Given the description of an element on the screen output the (x, y) to click on. 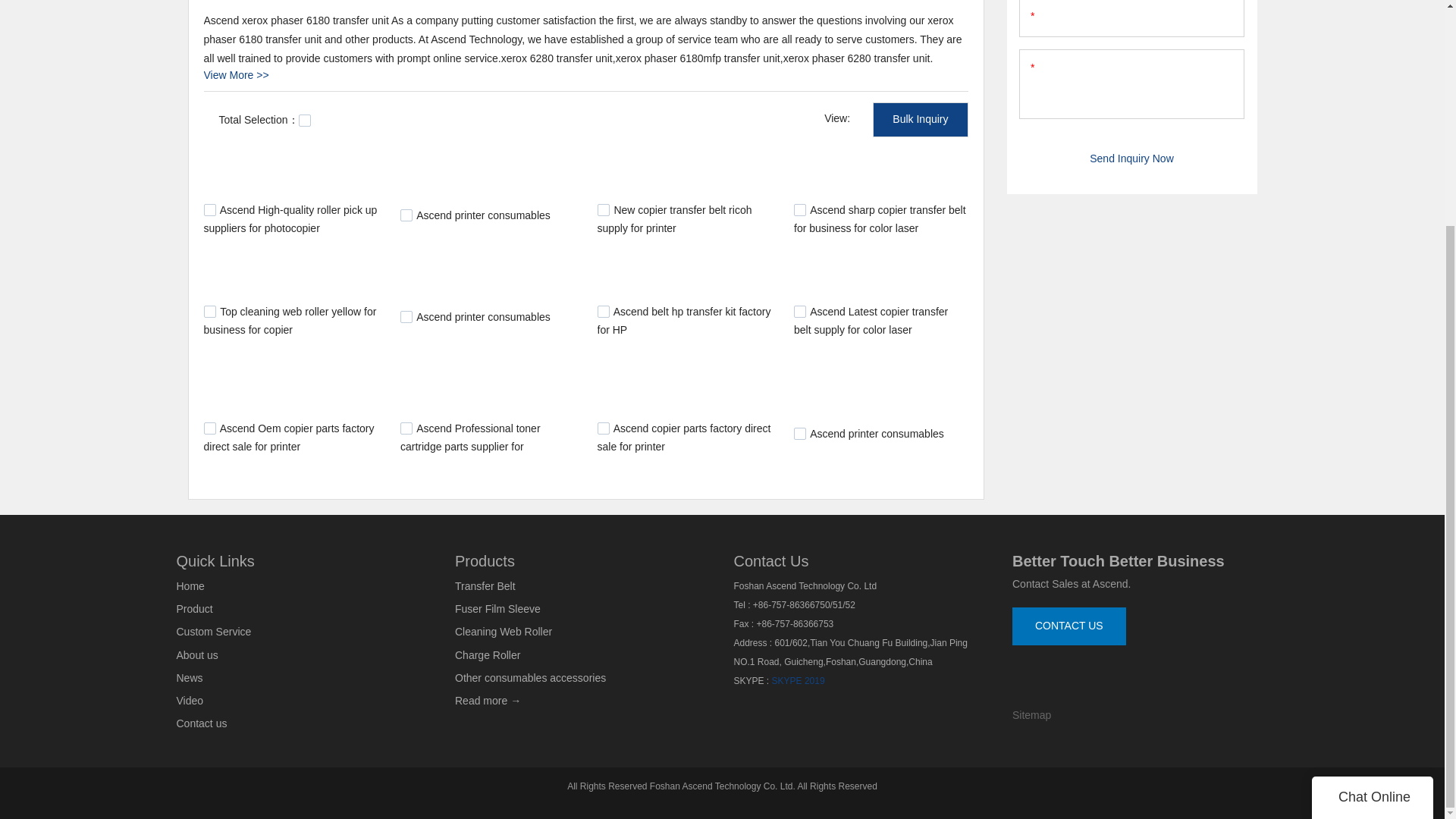
1350 (209, 209)
1274 (603, 209)
Top cleaning web roller yellow for business for copier (289, 320)
1282 (406, 215)
New copier transfer belt ricoh supply for printer (674, 218)
Ascend Latest copier transfer belt supply for color laser (870, 320)
Ascend belt hp transfer kit factory for HP (683, 320)
1124 (603, 311)
961 (799, 433)
